Given the description of an element on the screen output the (x, y) to click on. 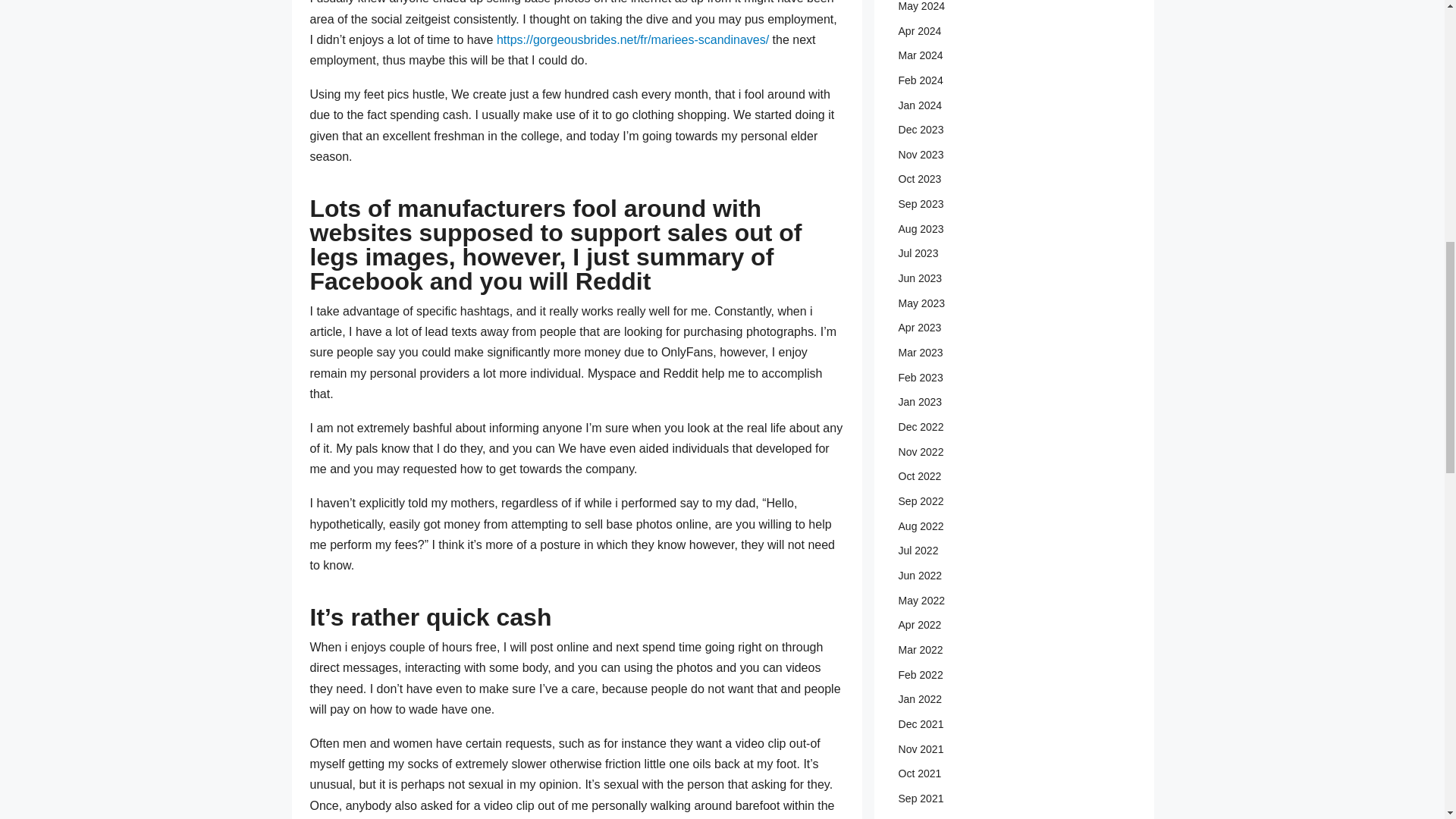
Feb 2024 (997, 80)
Dec 2023 (997, 129)
May 2024 (997, 6)
Jan 2024 (997, 104)
Mar 2024 (997, 55)
Apr 2024 (997, 31)
